Given the description of an element on the screen output the (x, y) to click on. 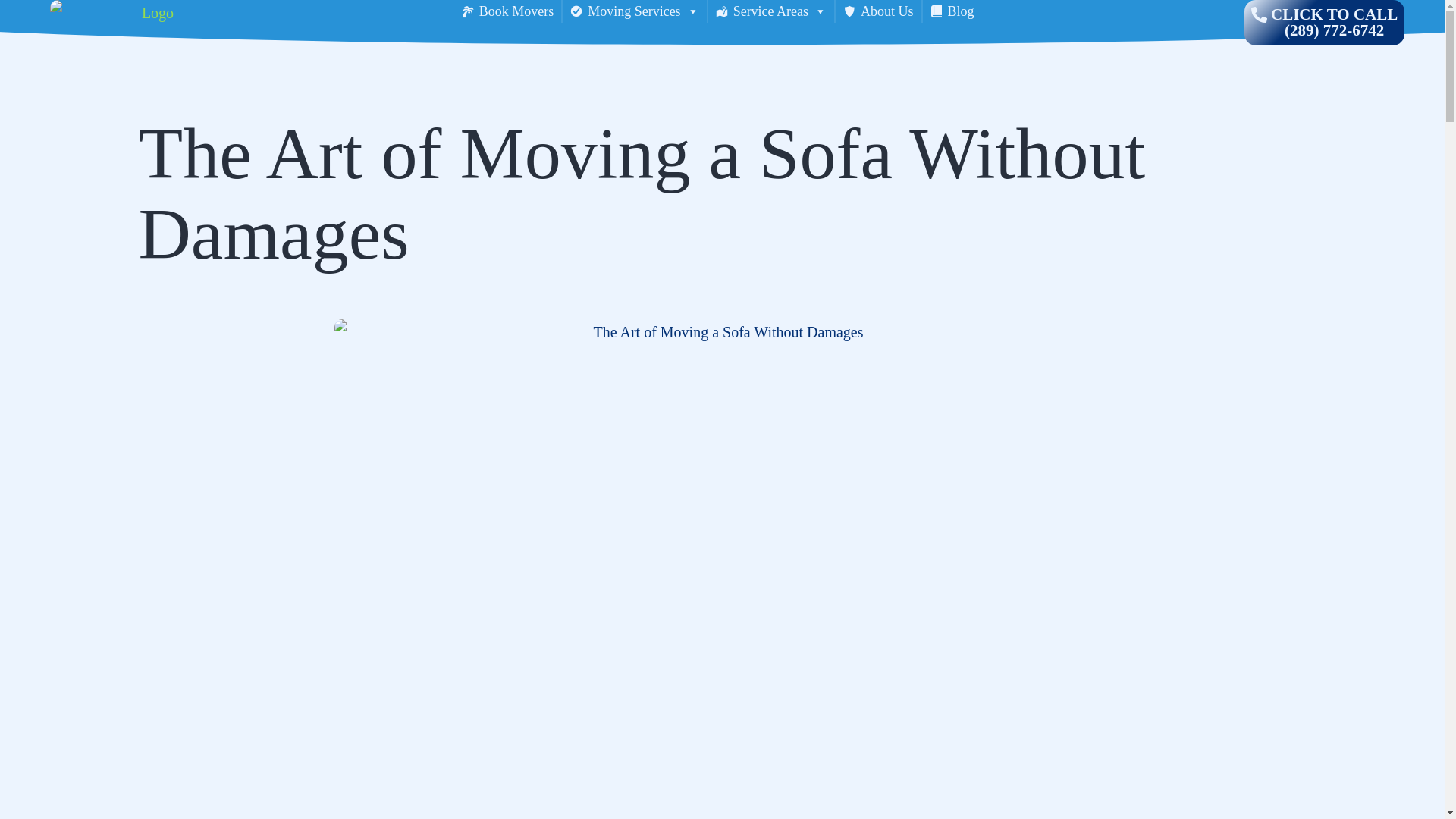
Book Movers (507, 11)
Logo (151, 22)
Service Areas (770, 11)
Moving Services (634, 11)
